Given the description of an element on the screen output the (x, y) to click on. 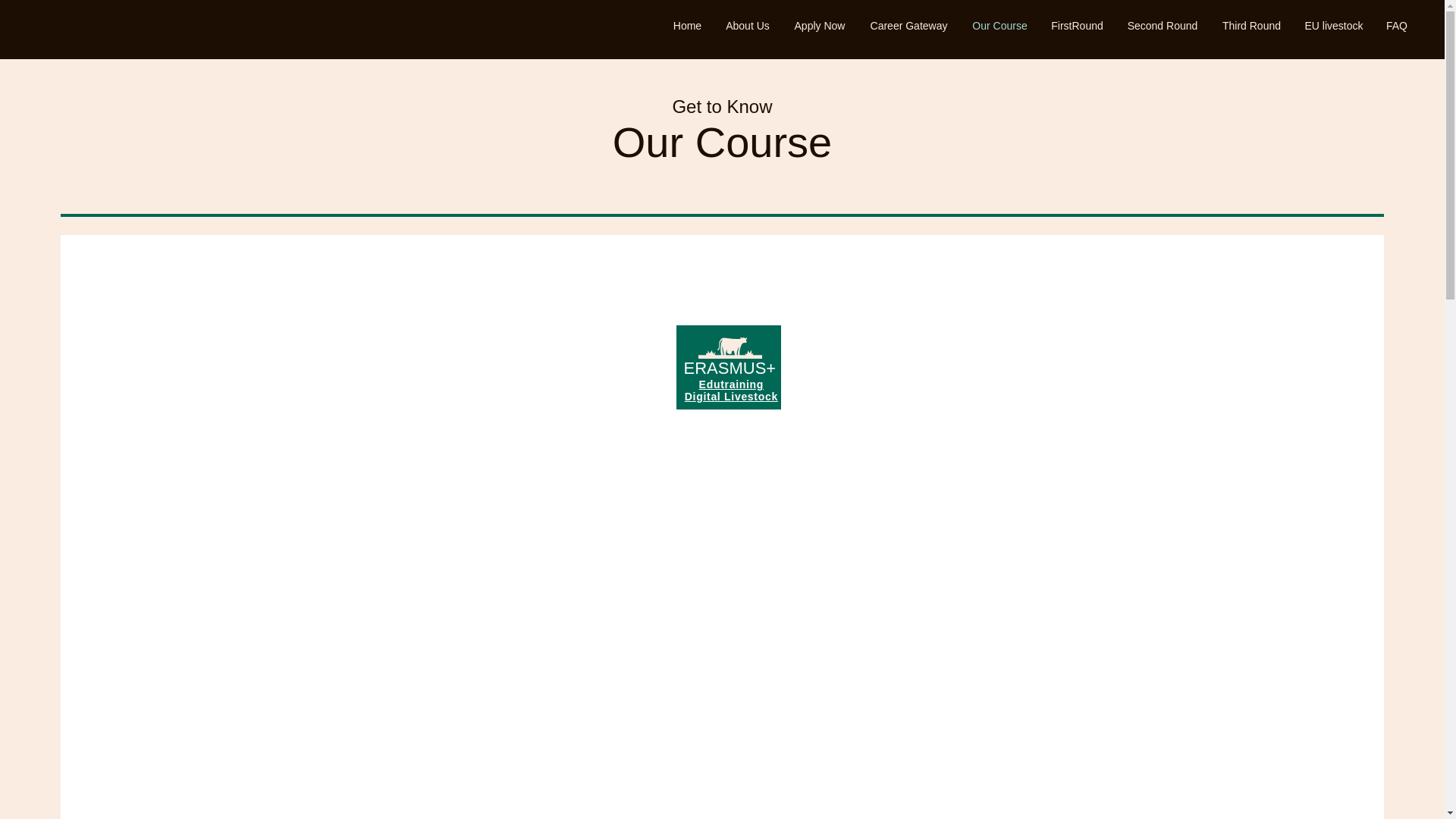
Third Round (1250, 25)
About Us (747, 25)
FirstRound (1077, 25)
Second Round (1162, 25)
FAQ (1396, 25)
Home (687, 25)
Our Course (999, 25)
Apply Now (819, 25)
Edutraining Digital Livestock (730, 390)
EU livestock (1333, 25)
Career Gateway (908, 25)
